Given the description of an element on the screen output the (x, y) to click on. 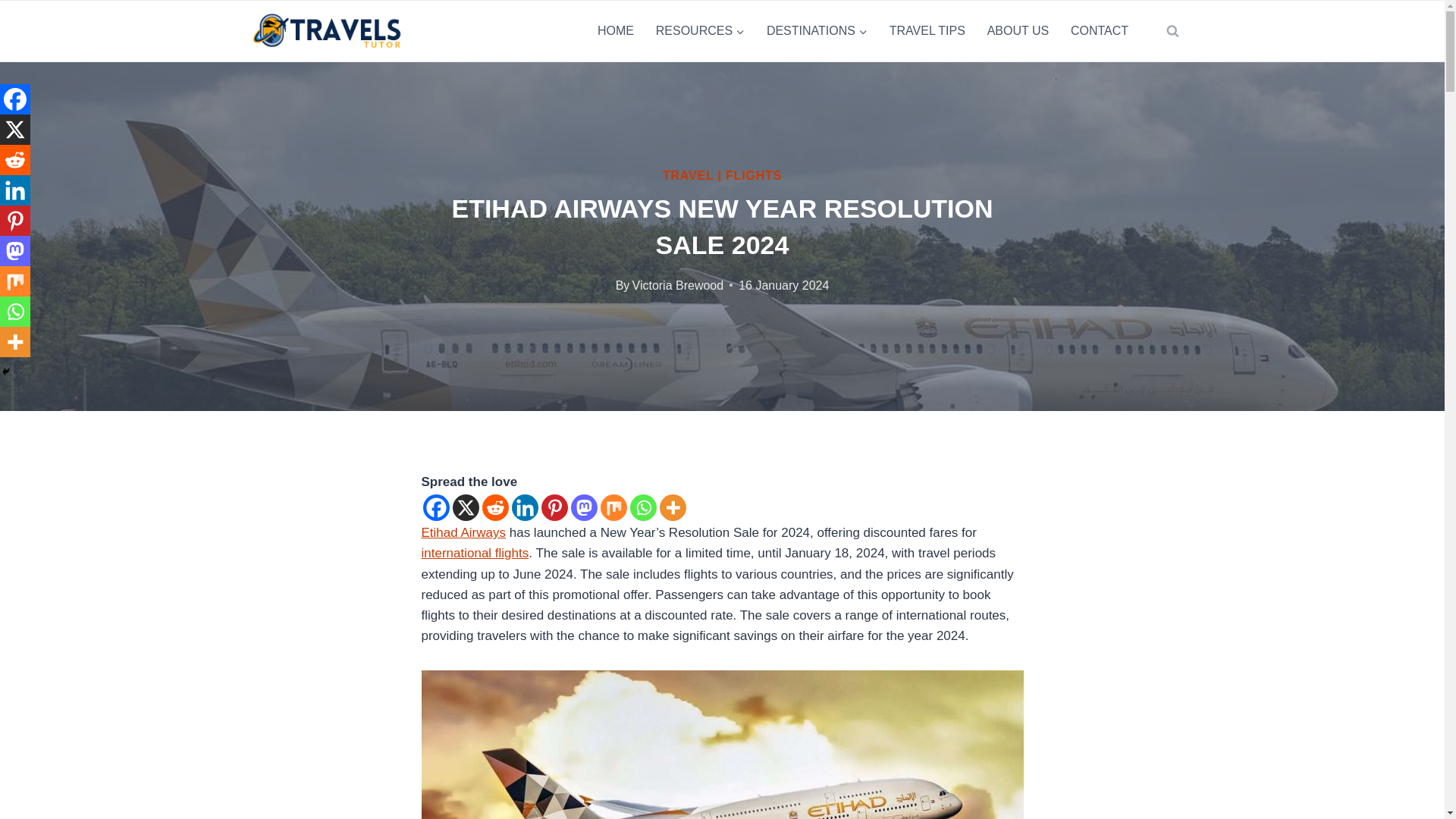
RESOURCES (700, 31)
X (15, 129)
Reddit (494, 507)
Facebook (15, 99)
Facebook (436, 507)
DESTINATIONS (816, 31)
international flights (475, 553)
Mix (613, 507)
Linkedin (524, 507)
Mastodon (583, 507)
